Given the description of an element on the screen output the (x, y) to click on. 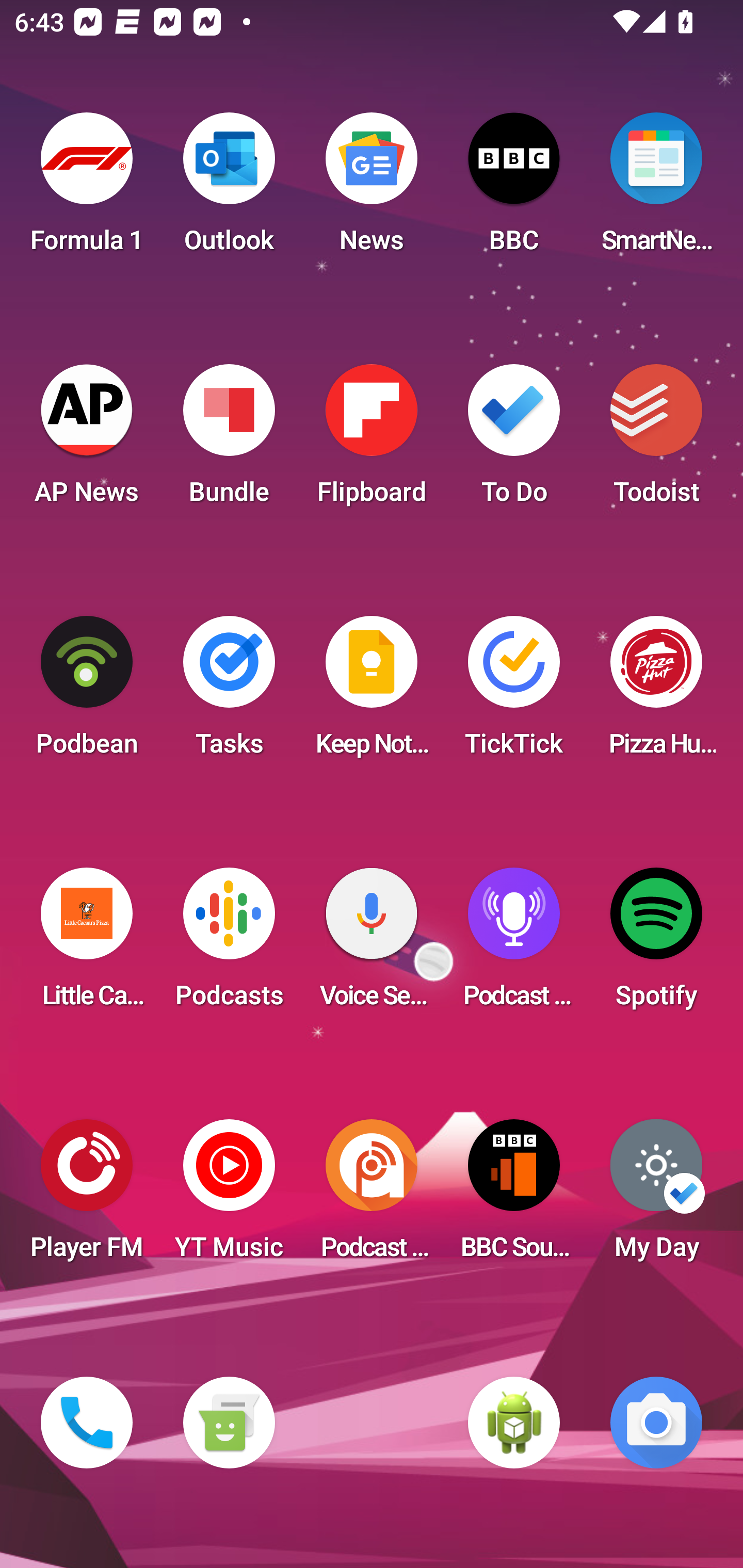
Formula 1 (86, 188)
Outlook (228, 188)
News (371, 188)
BBC (513, 188)
SmartNews (656, 188)
AP News (86, 440)
Bundle (228, 440)
Flipboard (371, 440)
To Do (513, 440)
Todoist (656, 440)
Podbean (86, 692)
Tasks (228, 692)
Keep Notes (371, 692)
TickTick (513, 692)
Pizza Hut HK & Macau (656, 692)
Little Caesars Pizza (86, 943)
Podcasts (228, 943)
Voice Search (371, 943)
Podcast Player (513, 943)
Spotify (656, 943)
Player FM (86, 1195)
YT Music (228, 1195)
Podcast Addict (371, 1195)
BBC Sounds (513, 1195)
My Day (656, 1195)
Phone (86, 1422)
Messaging (228, 1422)
WebView Browser Tester (513, 1422)
Camera (656, 1422)
